Given the description of an element on the screen output the (x, y) to click on. 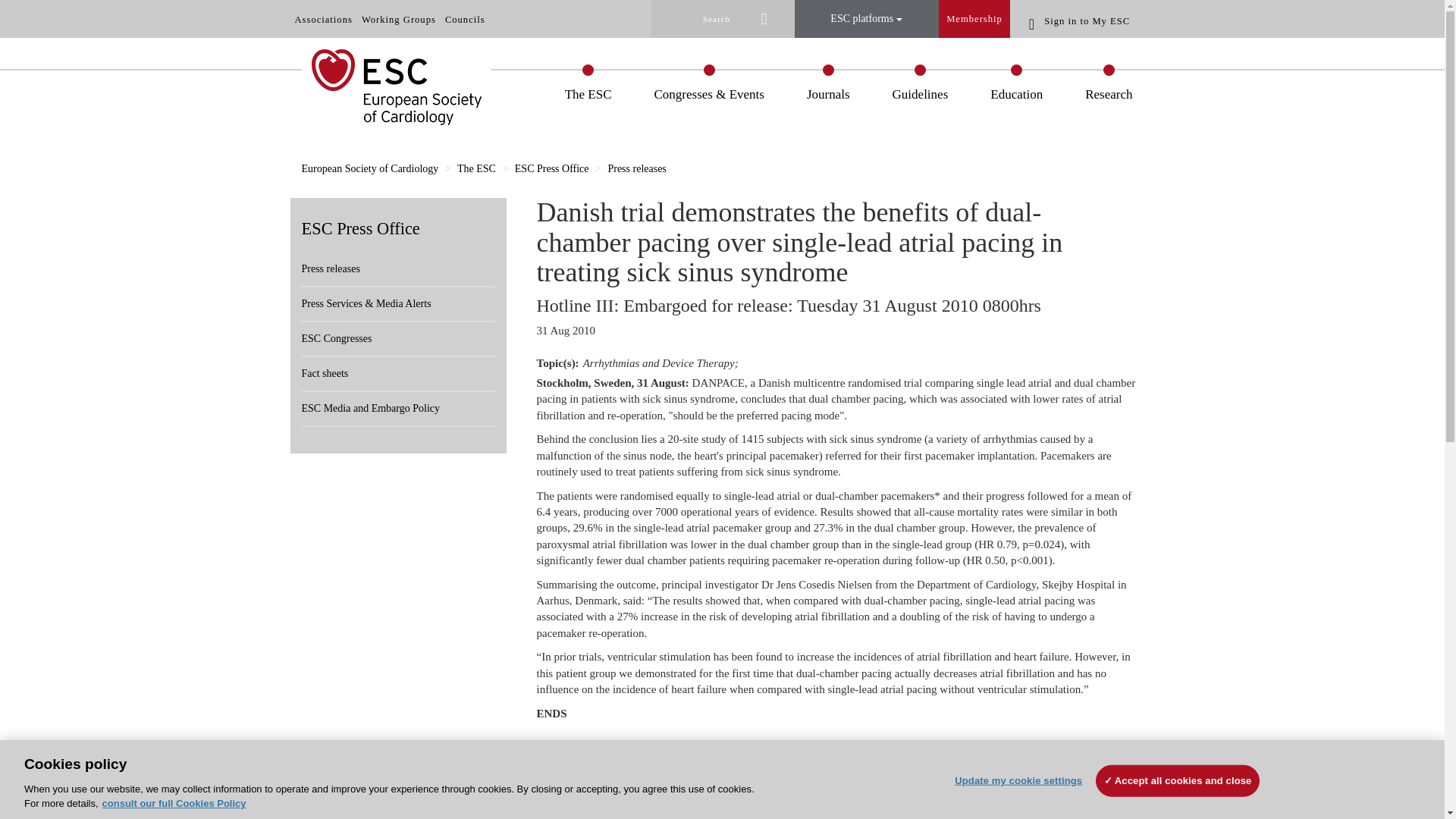
Working Groups (398, 19)
Sign in to My ESC (1082, 20)
Associations (322, 19)
ESC platforms  (866, 18)
Councils (465, 19)
Membership (974, 18)
